Given the description of an element on the screen output the (x, y) to click on. 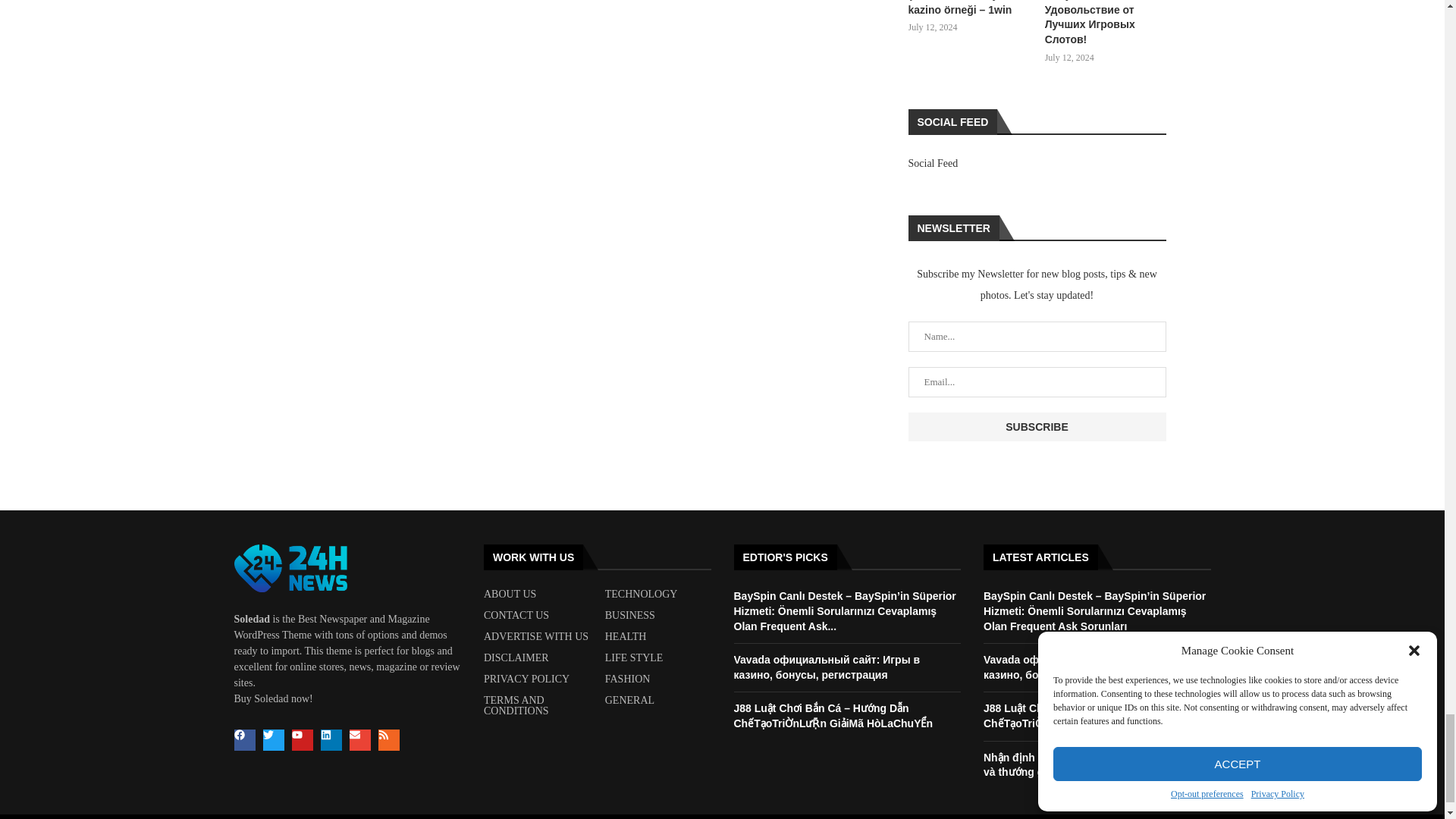
Subscribe (1037, 426)
